Given the description of an element on the screen output the (x, y) to click on. 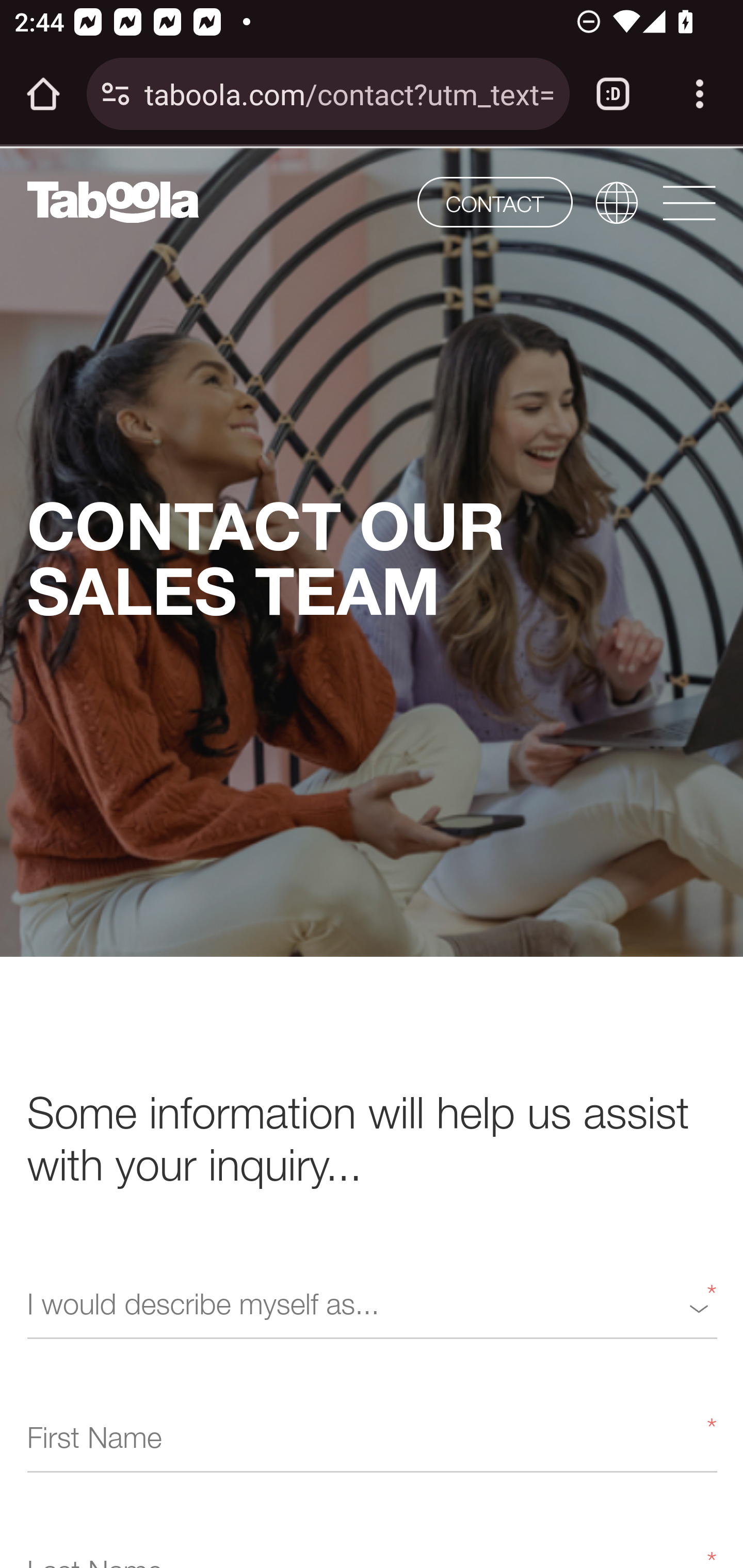
Open the home page (43, 93)
Connection is secure (115, 93)
Switch or close tabs (612, 93)
Customize and control Google Chrome (699, 93)
CONTACT (494, 201)
www.taboola (112, 202)
* I would describe myself as... (371, 1307)
